Given the description of an element on the screen output the (x, y) to click on. 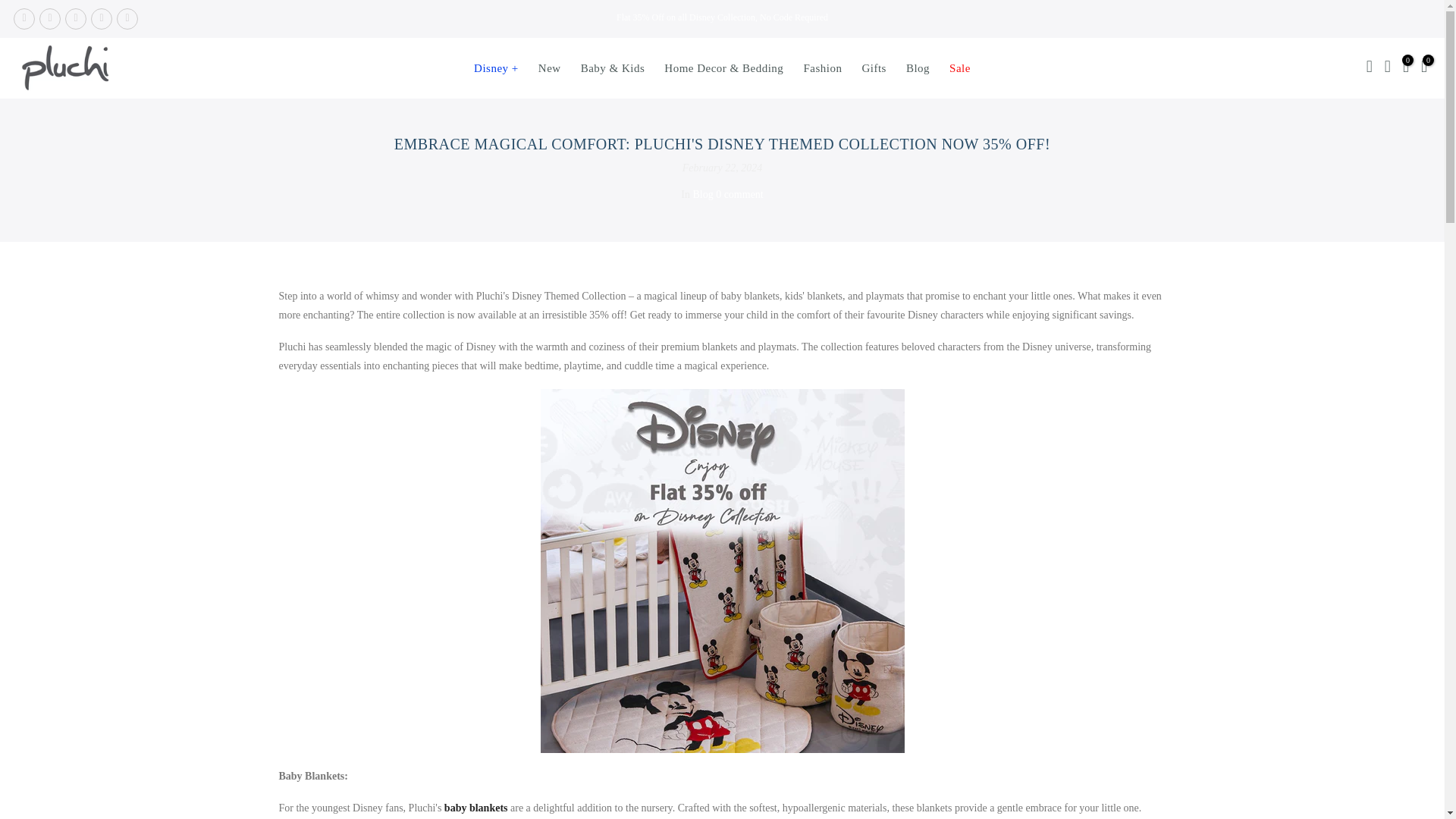
0 comment (739, 193)
Fashion (822, 67)
Blog (703, 193)
baby blankets (476, 808)
0 (1405, 68)
baby blankets (476, 808)
